Given the description of an element on the screen output the (x, y) to click on. 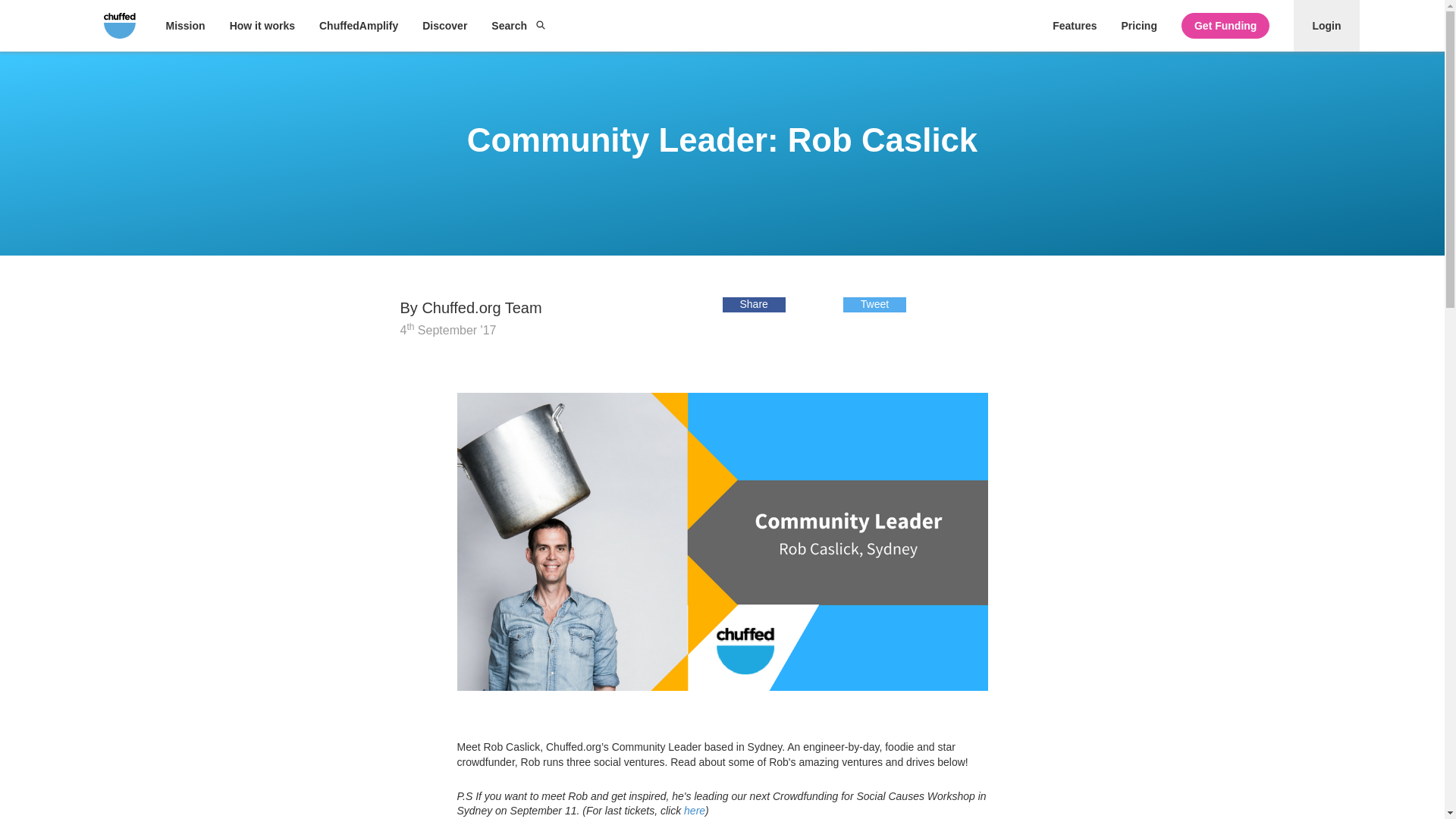
here (694, 810)
Mission (185, 25)
Pricing (1138, 25)
Share (753, 303)
Discover (444, 25)
ChuffedAmplify (357, 25)
Login (1325, 25)
Tweet (874, 303)
Features (1074, 25)
Get Funding (1224, 26)
